Given the description of an element on the screen output the (x, y) to click on. 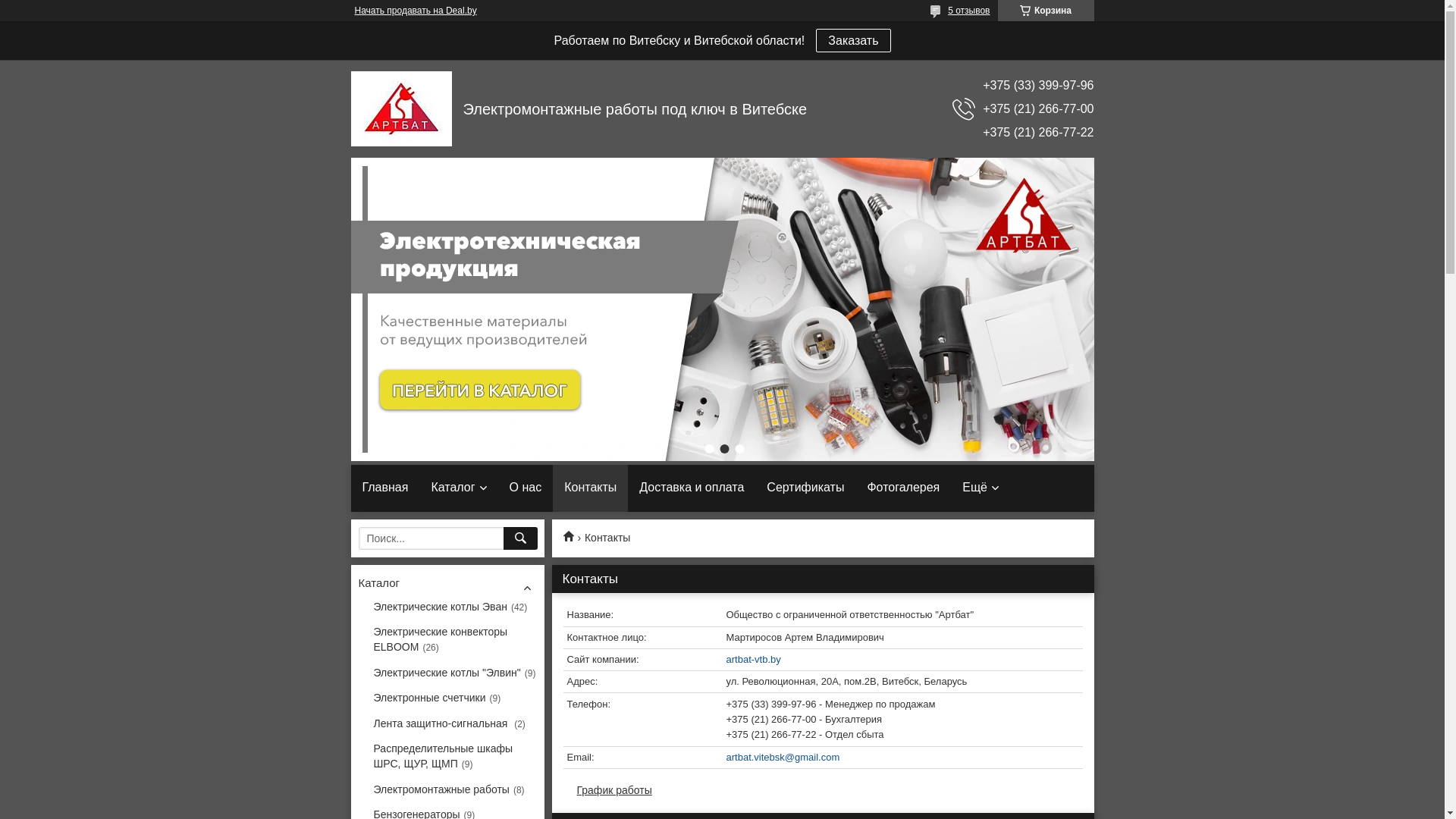
artbat-vtb.by Element type: text (822, 660)
artbat.vitebsk@gmail.com Element type: text (822, 757)
